Given the description of an element on the screen output the (x, y) to click on. 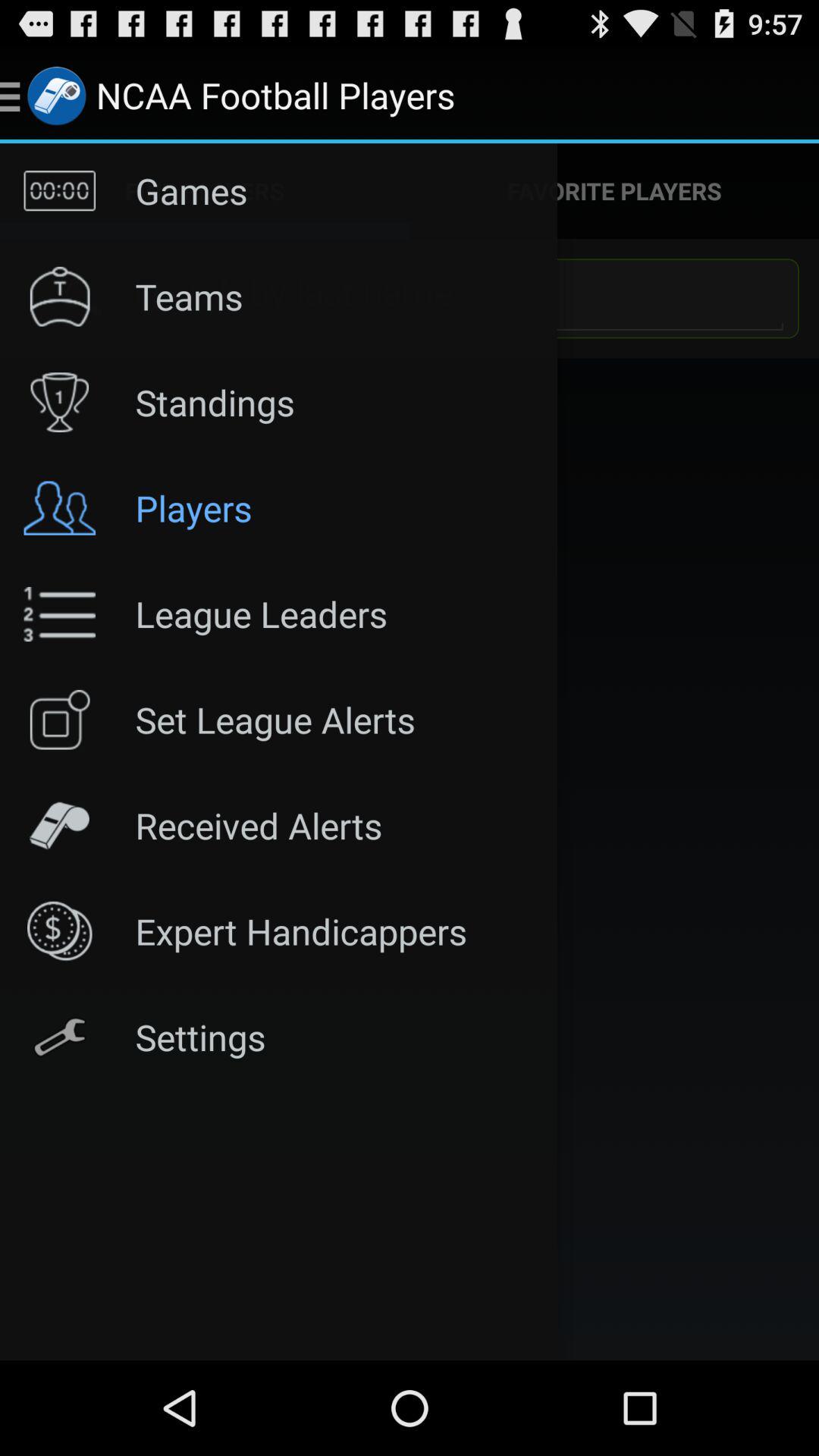
select teams (448, 296)
